Given the description of an element on the screen output the (x, y) to click on. 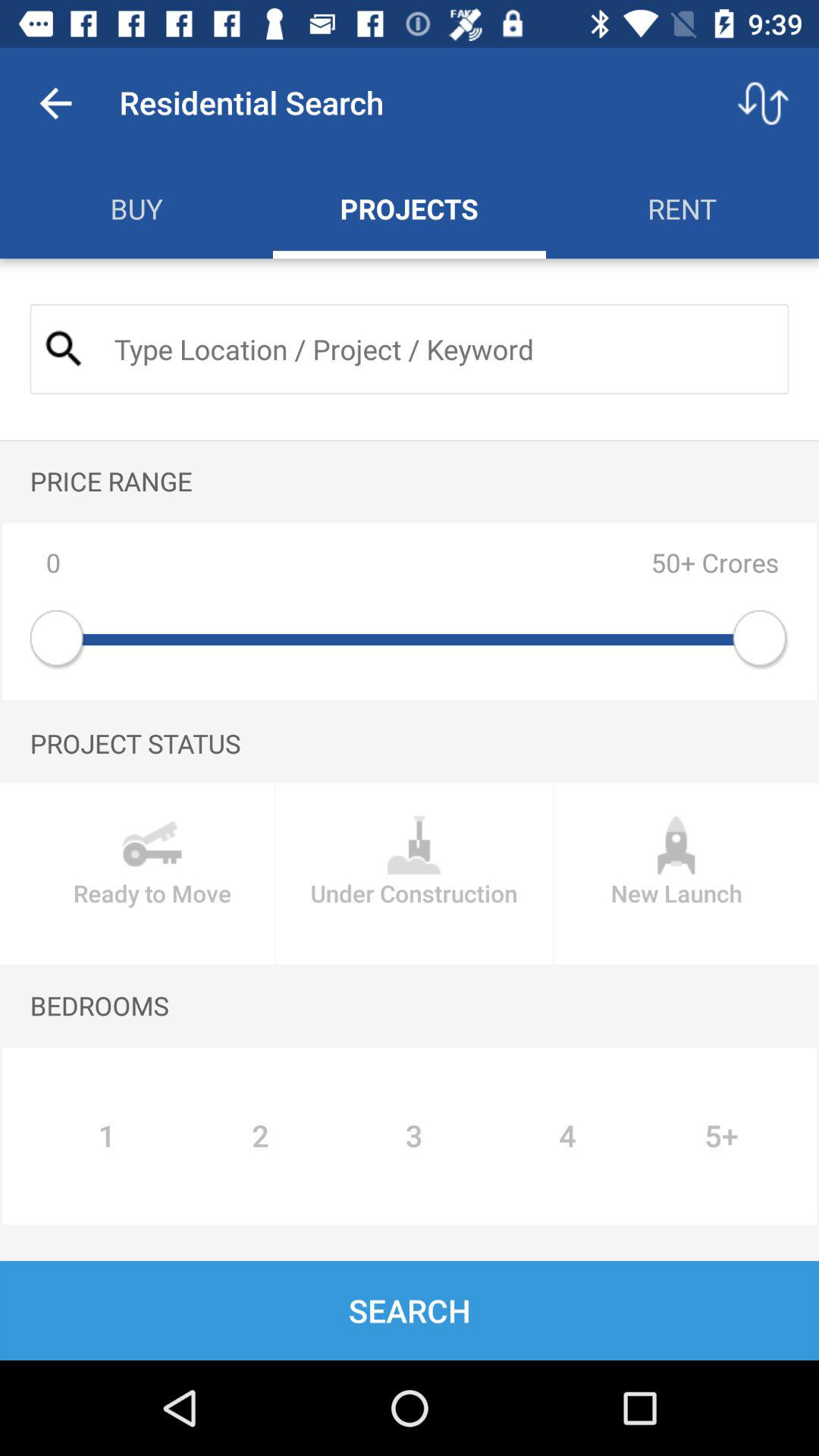
select the item next to 5+ item (567, 1135)
